Given the description of an element on the screen output the (x, y) to click on. 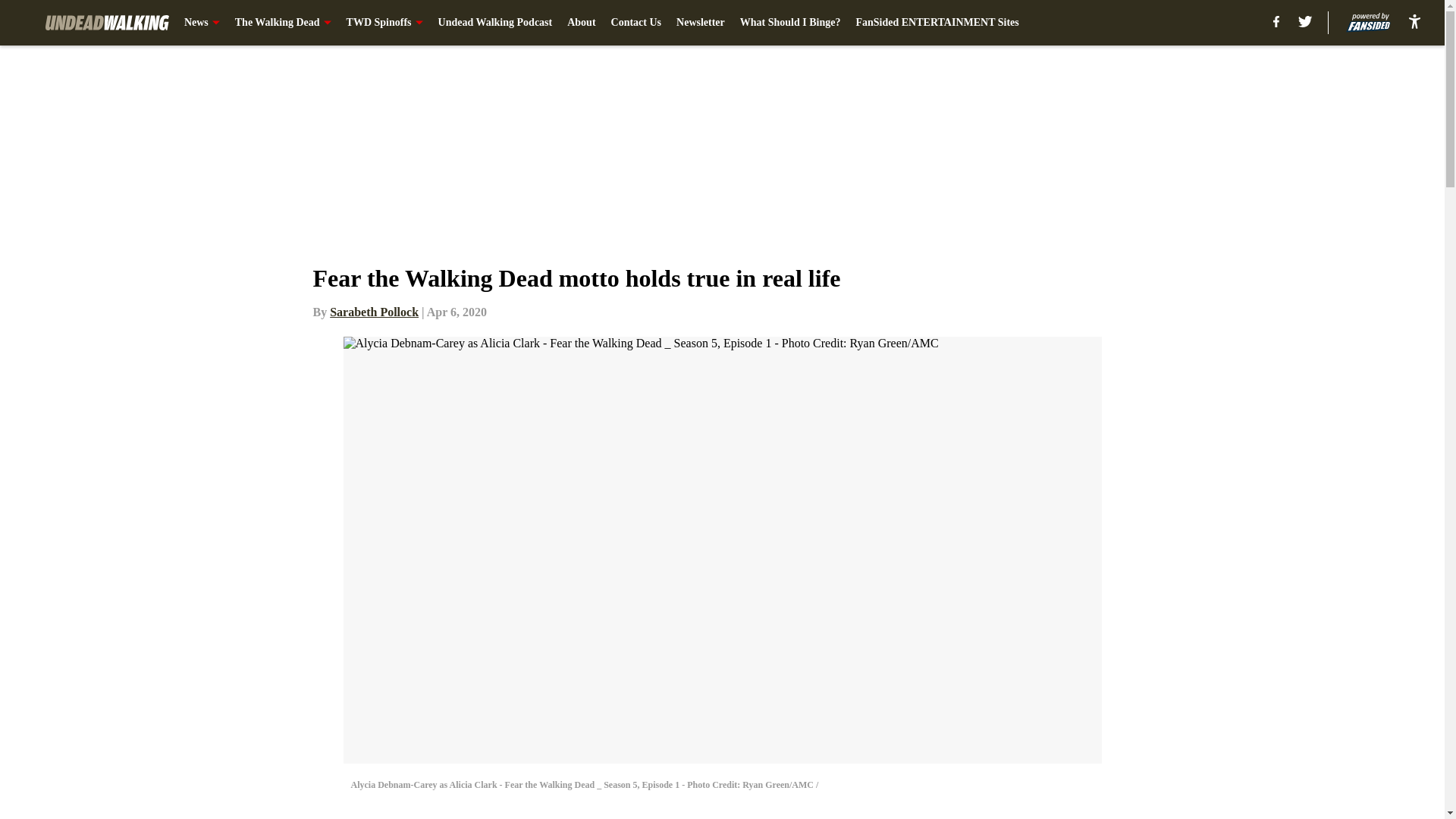
Newsletter (701, 22)
FanSided ENTERTAINMENT Sites (936, 22)
About (581, 22)
Sarabeth Pollock (374, 311)
Undead Walking Podcast (495, 22)
What Should I Binge? (790, 22)
Contact Us (636, 22)
